Given the description of an element on the screen output the (x, y) to click on. 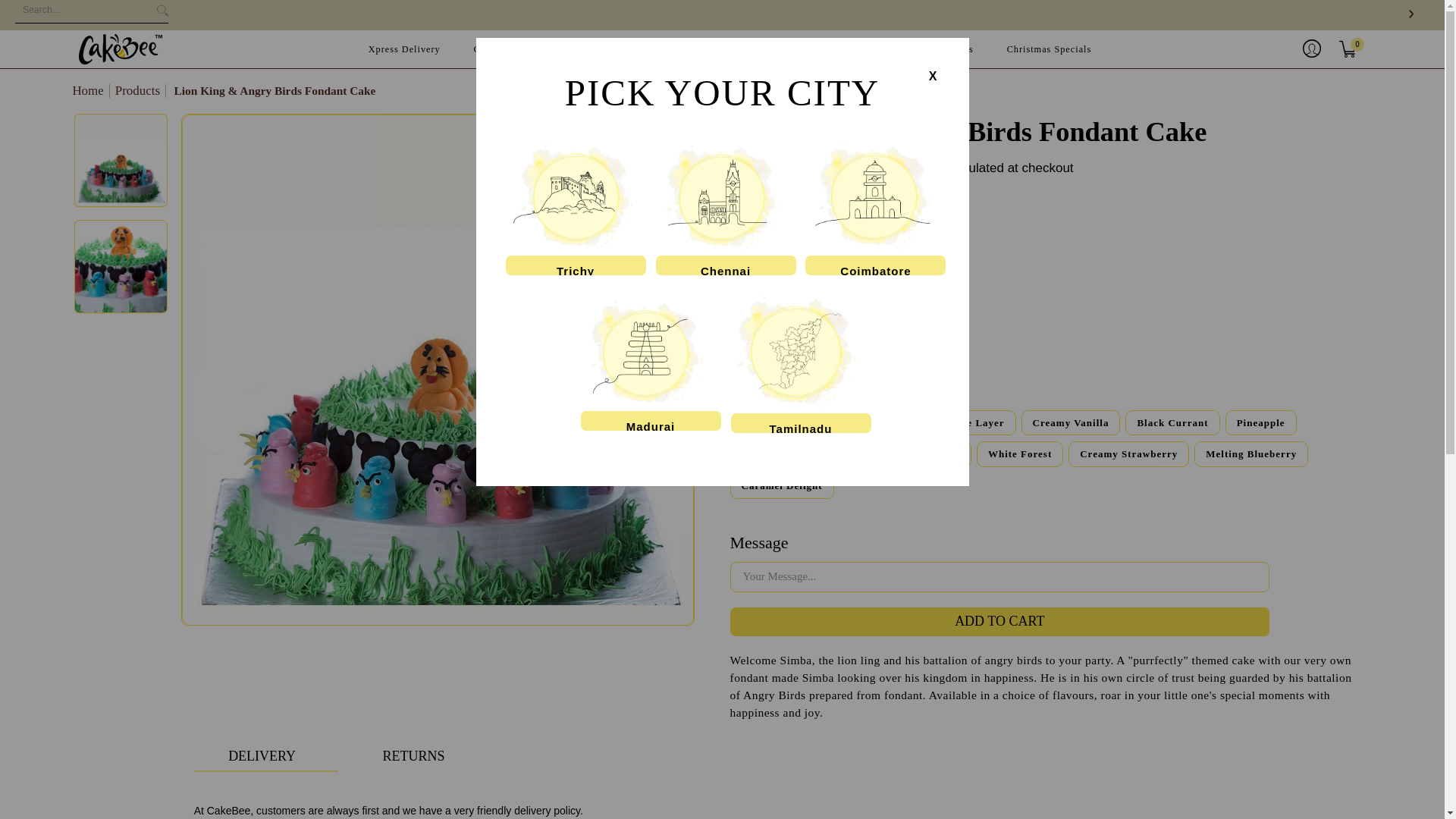
Cakes (486, 49)
Melting Blueberry (1250, 453)
Search (91, 13)
2 Kg (761, 338)
CakeBee (120, 48)
Creamy Vanilla (1071, 422)
Eggless (826, 253)
2.5 Kg (828, 338)
Black Forest (781, 422)
Xpress Delivery (404, 49)
Egg (759, 253)
Xpress Delivery (404, 49)
Caramel Delight (780, 485)
Triple Layer (972, 422)
Pineapple (1261, 422)
